Given the description of an element on the screen output the (x, y) to click on. 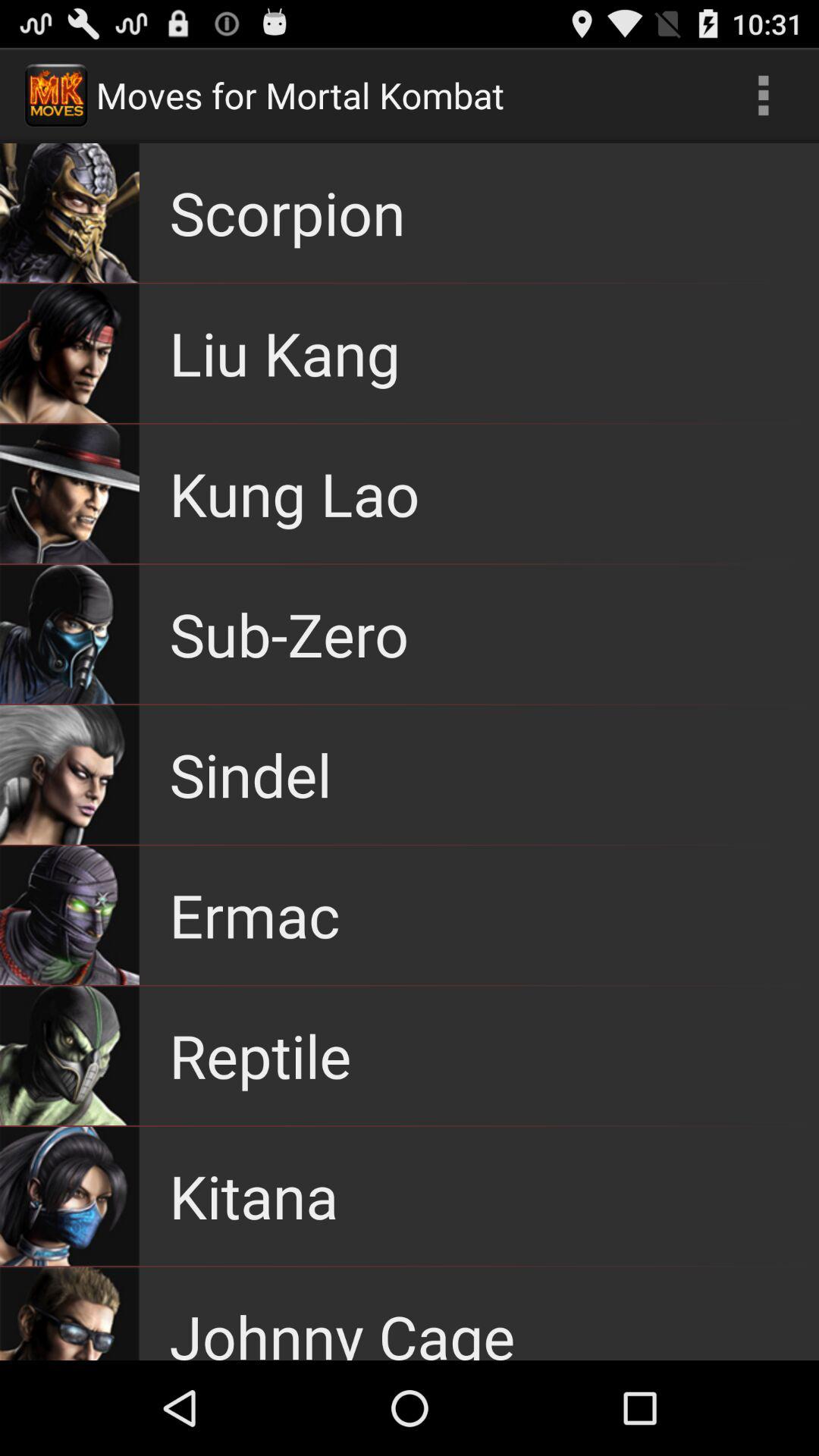
click the reptile app (260, 1055)
